Given the description of an element on the screen output the (x, y) to click on. 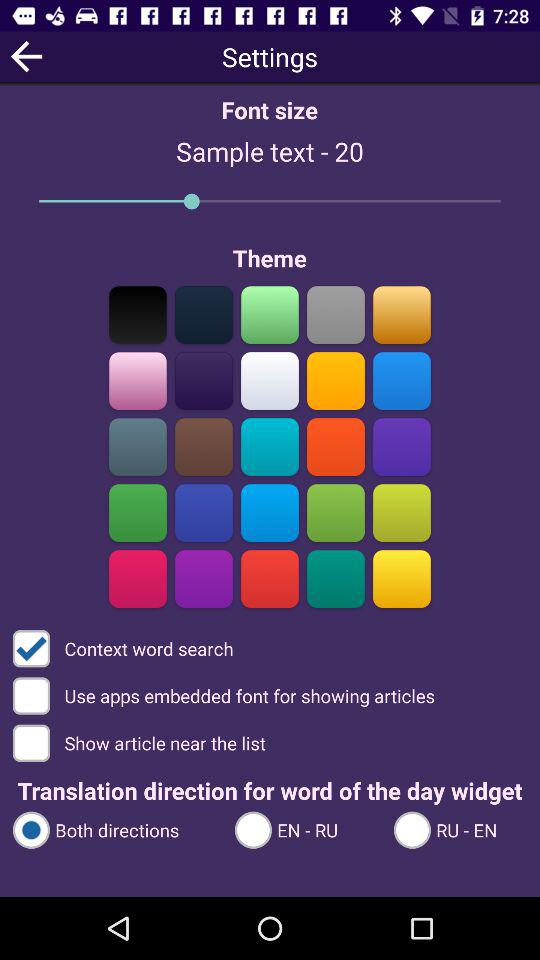
select blue as font color (401, 446)
